Given the description of an element on the screen output the (x, y) to click on. 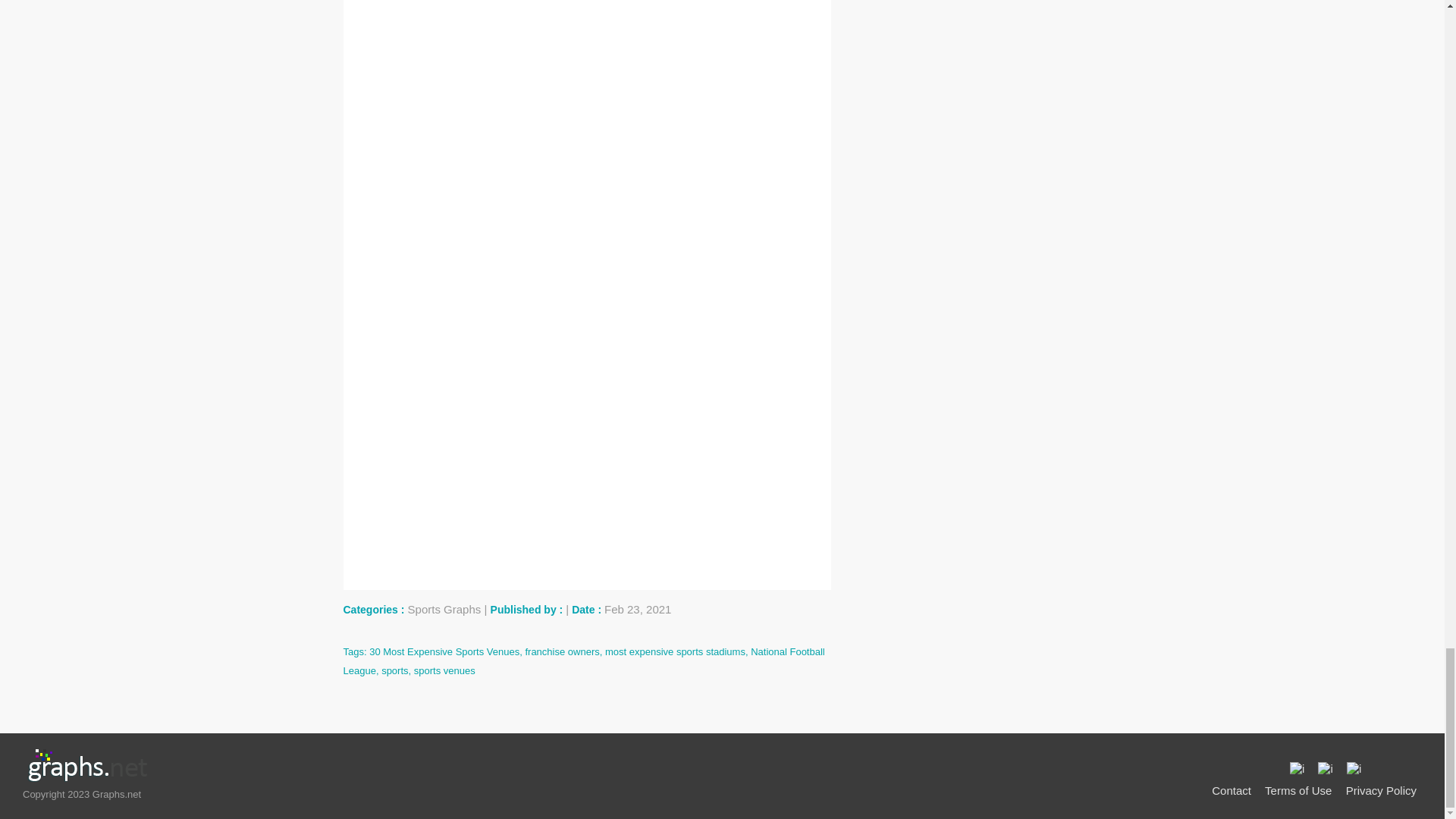
Terms of Use (1298, 789)
sports venues (444, 670)
National Football League (583, 661)
sports (394, 670)
Sports Graphs (444, 608)
most expensive sports stadiums (675, 651)
30 Most Expensive Sports Venues (444, 651)
Privacy Policy (1380, 789)
franchise owners (561, 651)
Contact (1230, 789)
